Given the description of an element on the screen output the (x, y) to click on. 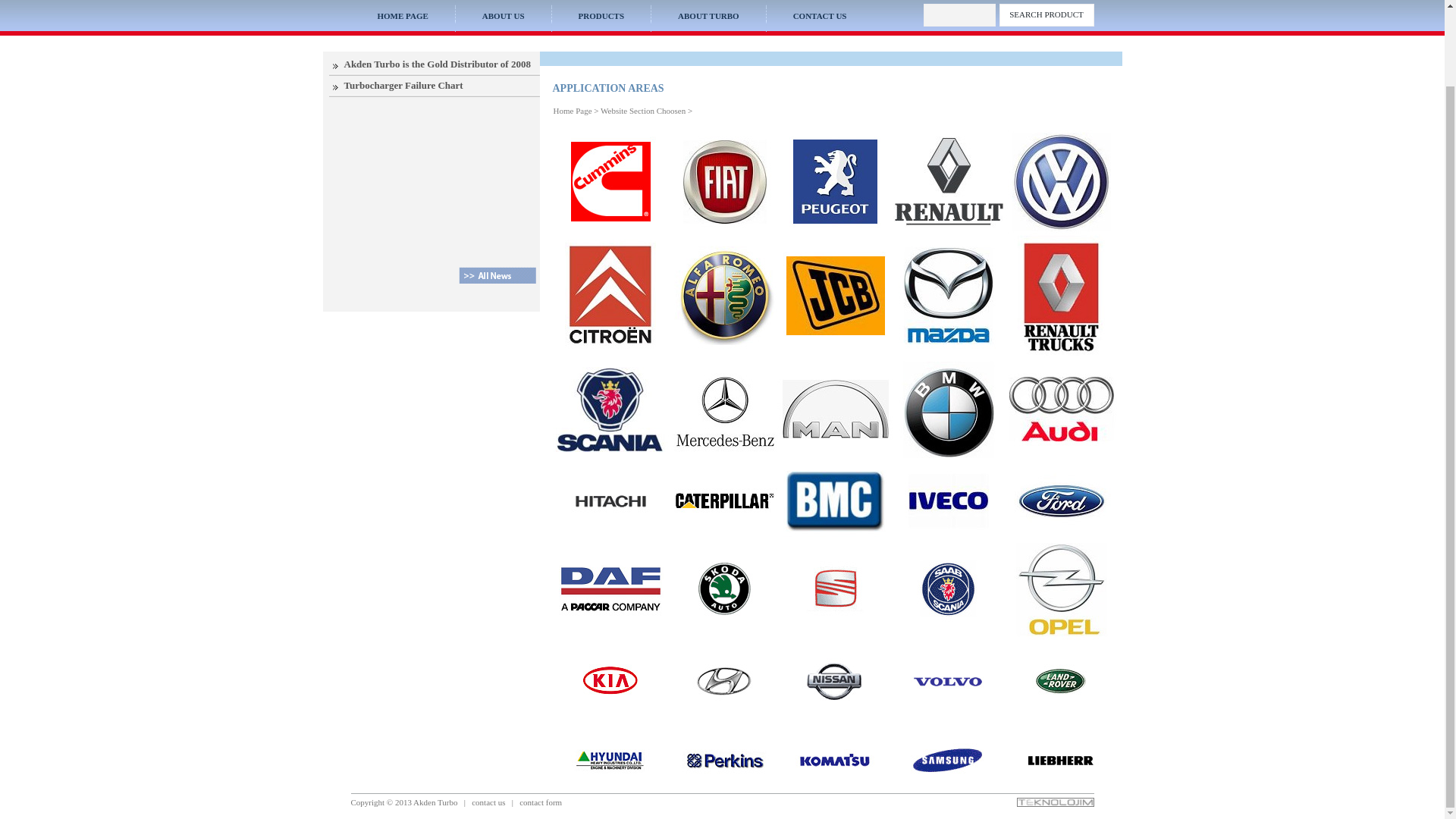
contact us (488, 801)
CONTACT US (820, 15)
HOME PAGE (402, 15)
Home Page (572, 110)
contact form (540, 801)
Website Section Choosen (642, 110)
Turbocharger Failure Chart (403, 84)
Akden Turbo is the Gold Distributor of 2008 (437, 63)
ABOUT US (502, 15)
ABOUT TURBO (708, 15)
